Given the description of an element on the screen output the (x, y) to click on. 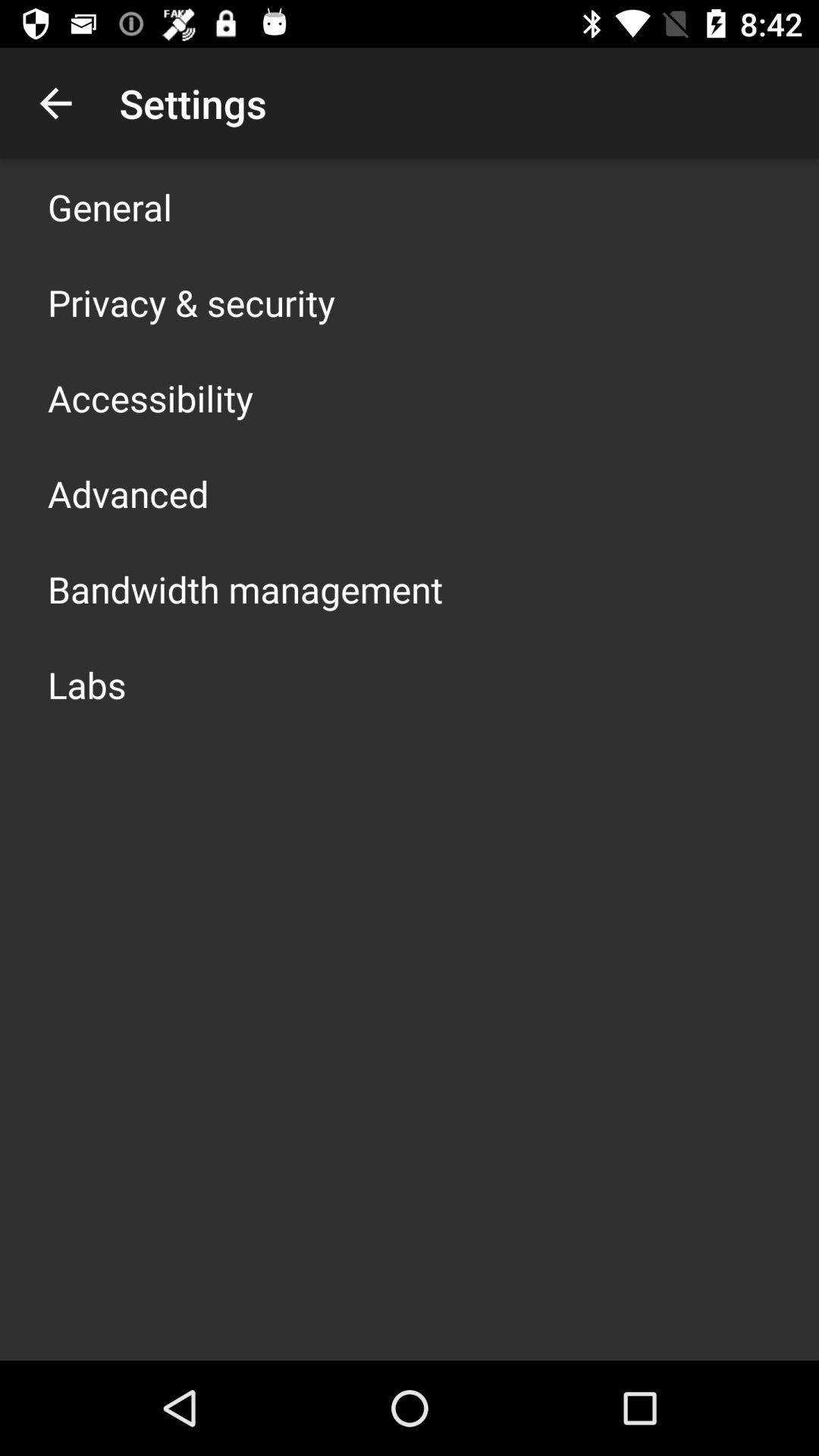
tap icon below the accessibility icon (127, 493)
